Given the description of an element on the screen output the (x, y) to click on. 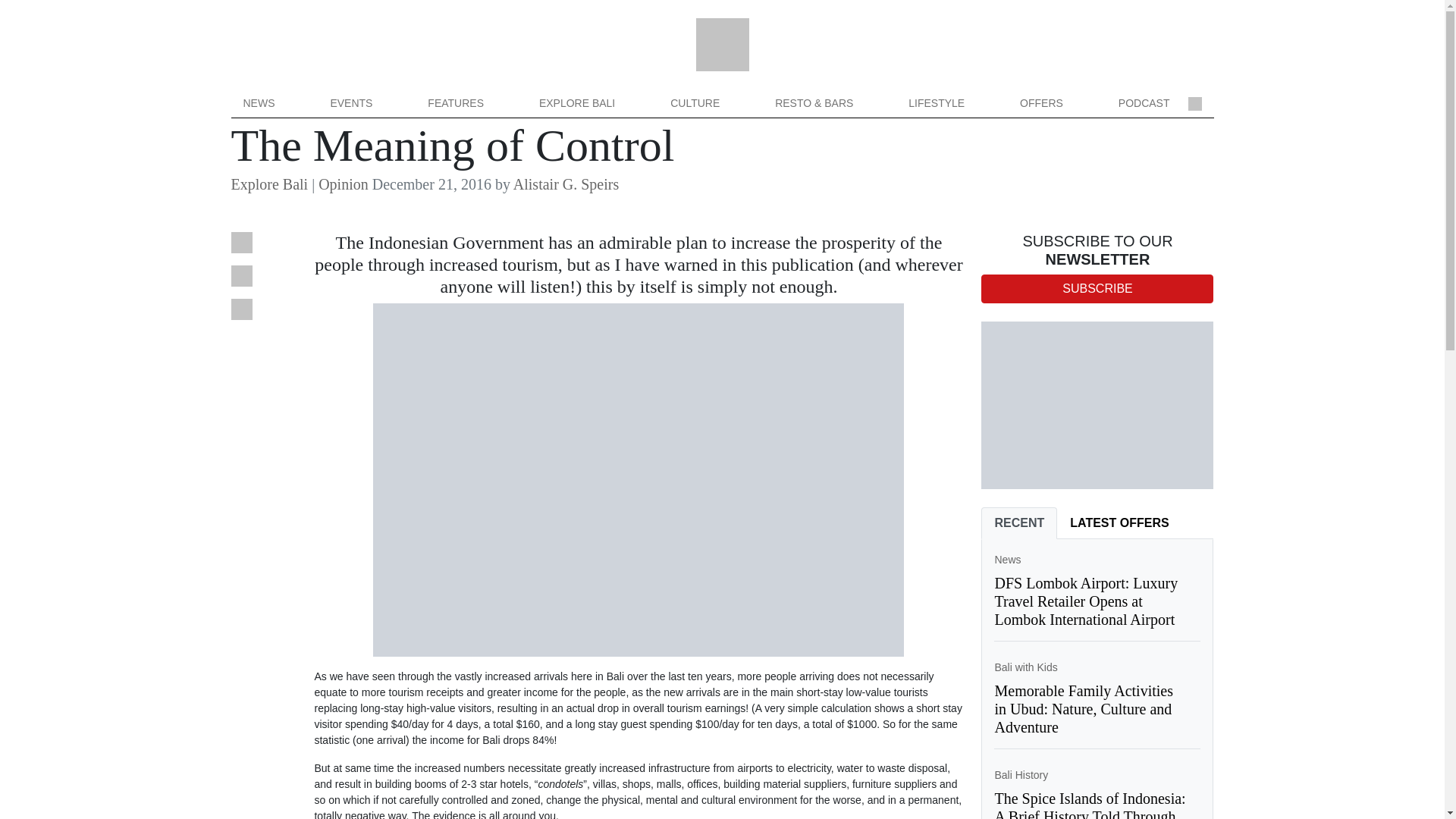
LATEST OFFERS (1118, 522)
OFFERS (1041, 103)
RECENT (1019, 522)
SUBSCRIBE (1096, 288)
Alistair G. Speirs (565, 184)
EVENTS (350, 103)
PODCAST (1144, 103)
Explore Bali (268, 184)
Opinion (343, 184)
CULTURE (695, 103)
FEATURES (455, 103)
Bali History (1021, 775)
NEWS (258, 103)
